Given the description of an element on the screen output the (x, y) to click on. 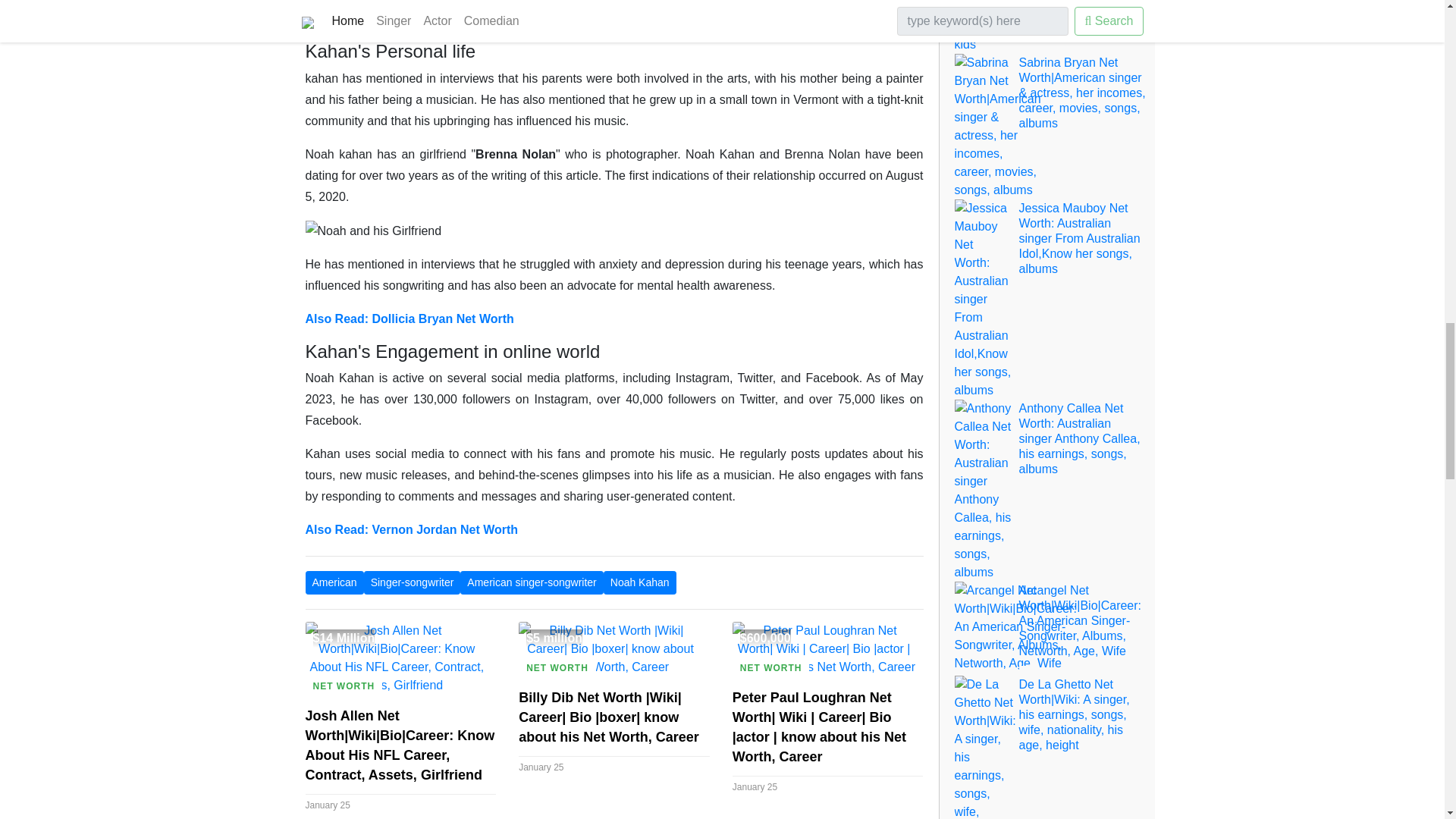
NET WORTH (556, 668)
NET WORTH (770, 668)
Also Read: Ben Harper Net Worth (400, 18)
Singer-songwriter (412, 582)
Also Read: Vernon Jordan Net Worth (411, 529)
American singer-songwriter (531, 582)
Also Read: Dollicia Bryan Net Worth (408, 318)
Noah Kahan (640, 582)
American (333, 582)
NET WORTH (342, 686)
